Given the description of an element on the screen output the (x, y) to click on. 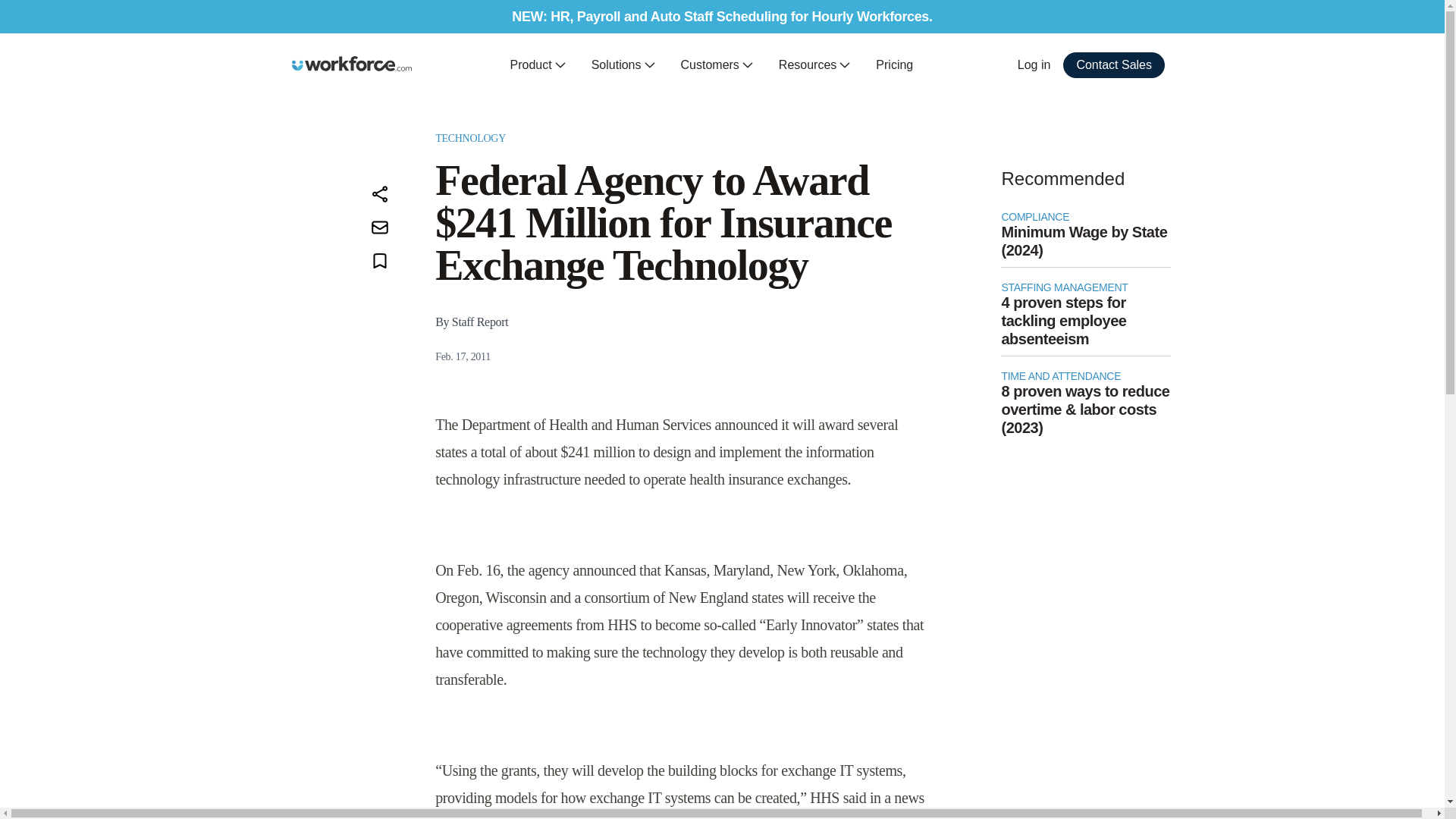
Workforce.com (351, 63)
Solutions (623, 65)
Product (539, 65)
